Given the description of an element on the screen output the (x, y) to click on. 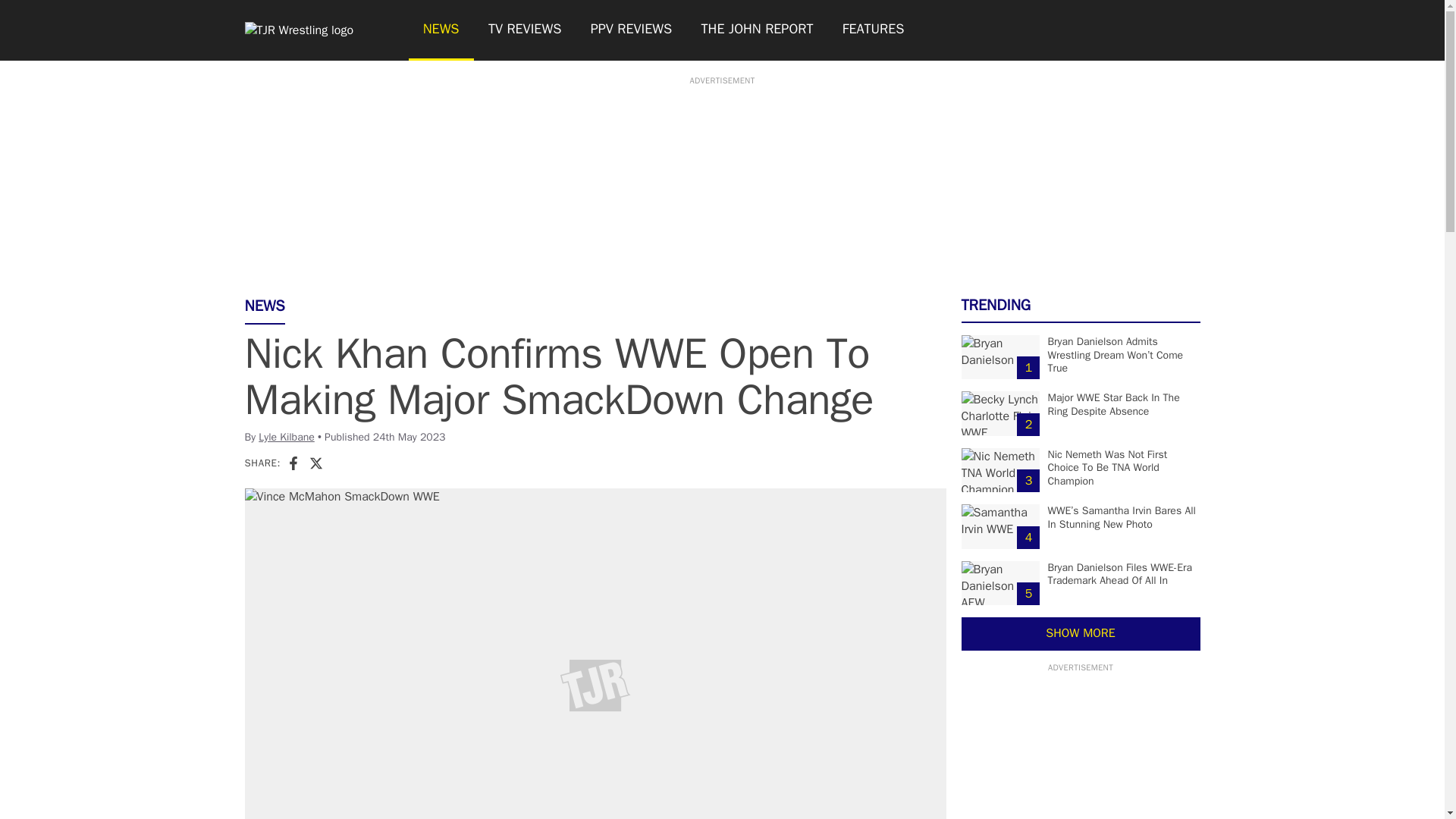
Lyle Kilbane (286, 436)
FEATURES (873, 30)
NEWS (440, 30)
Facebook (292, 463)
X (315, 462)
TV REVIEWS (525, 30)
PPV REVIEWS (631, 30)
Facebook (292, 462)
THE JOHN REPORT (756, 30)
X (315, 463)
